Given the description of an element on the screen output the (x, y) to click on. 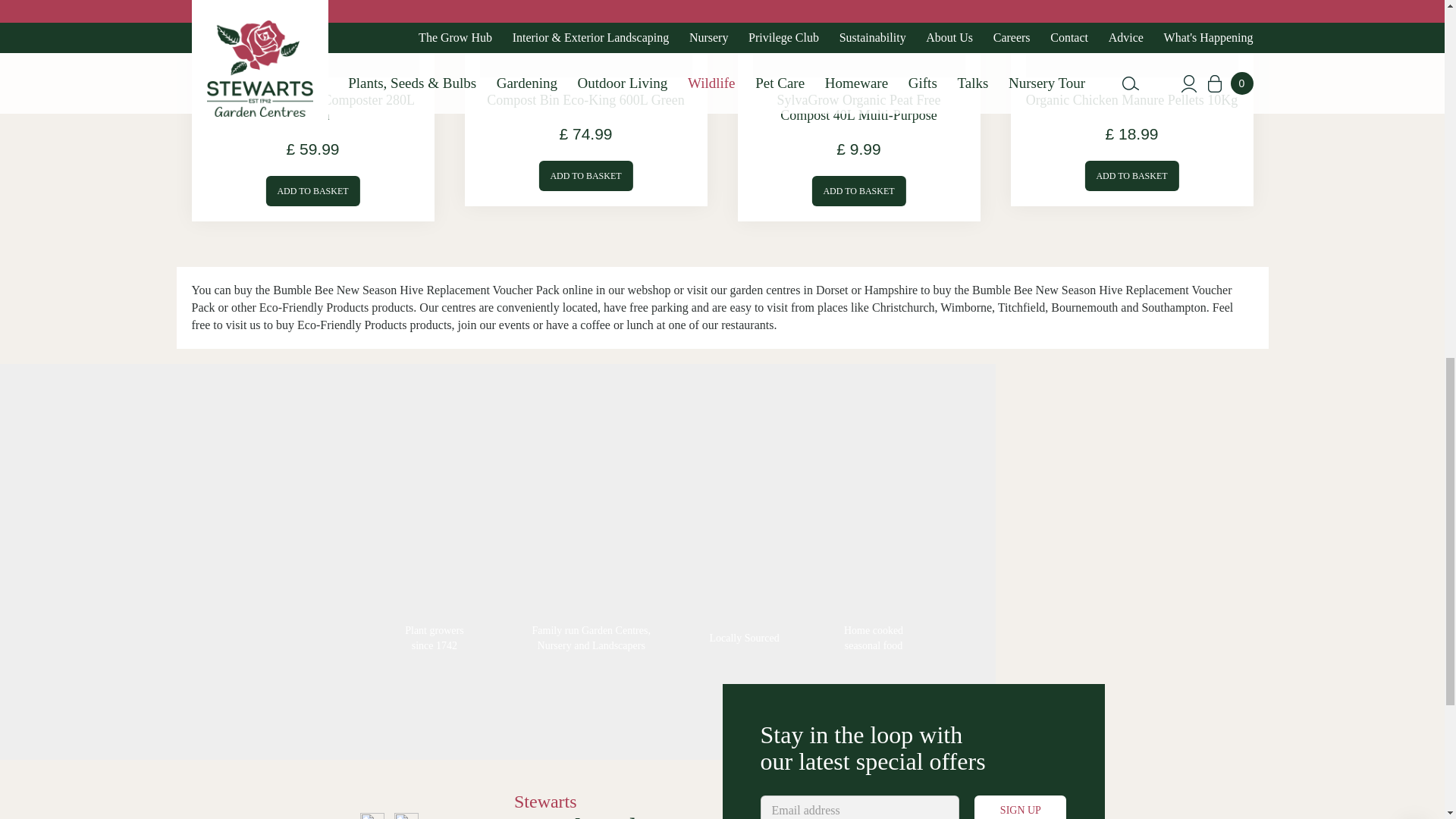
Sign up (1019, 807)
